Given the description of an element on the screen output the (x, y) to click on. 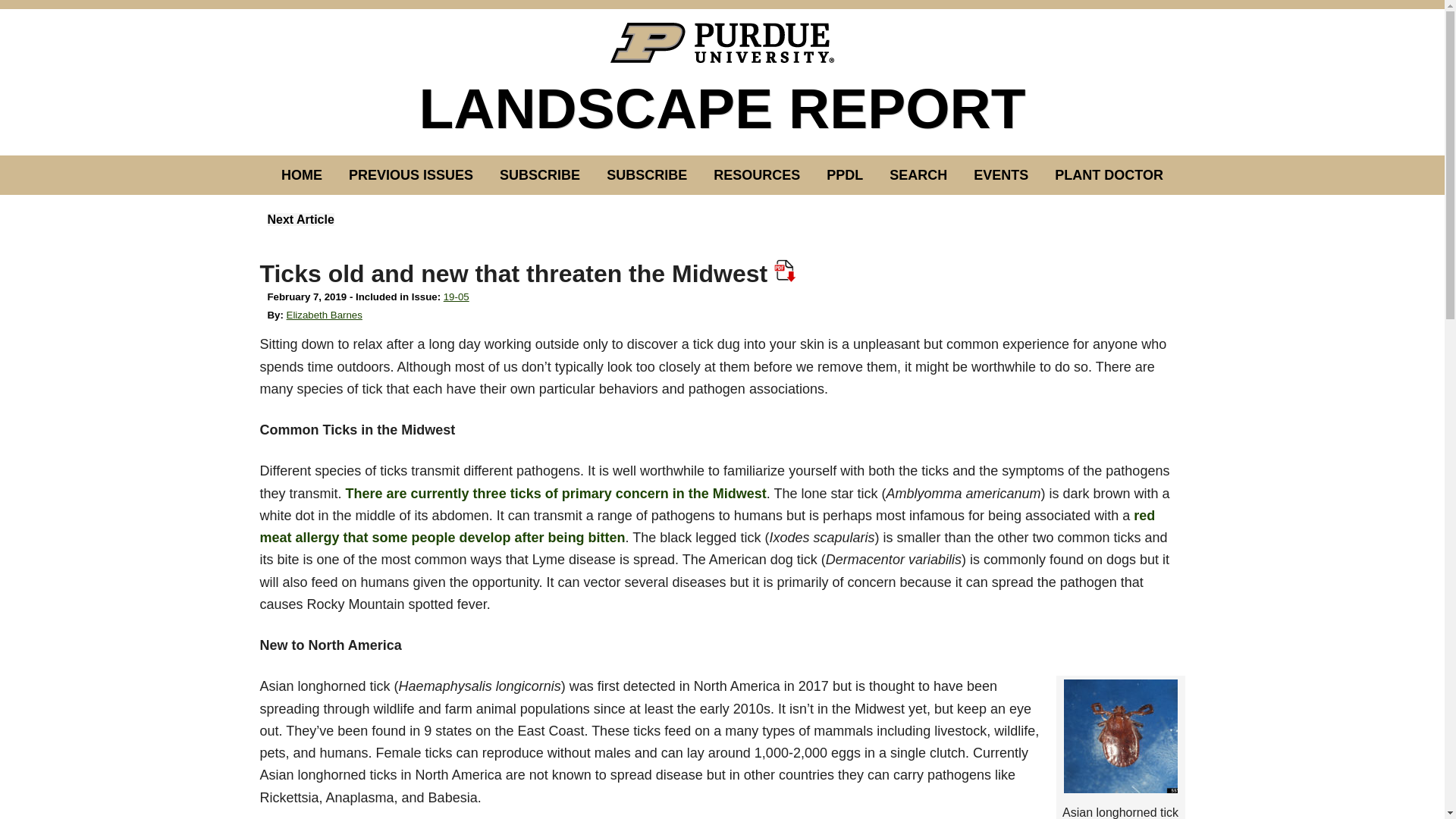
SUBSCRIBE (646, 174)
Next Article (299, 219)
PPDL (845, 174)
PREVIOUS ISSUES (410, 174)
SUBSCRIBE (539, 174)
red meat allergy that some people develop after being bitten (706, 526)
HOME (301, 174)
19-05 (456, 296)
SEARCH (917, 174)
EVENTS (1000, 174)
PLANT DOCTOR (1108, 174)
Elizabeth Barnes (324, 315)
Purdue Landscape Report (722, 42)
RESOURCES (755, 174)
